Given the description of an element on the screen output the (x, y) to click on. 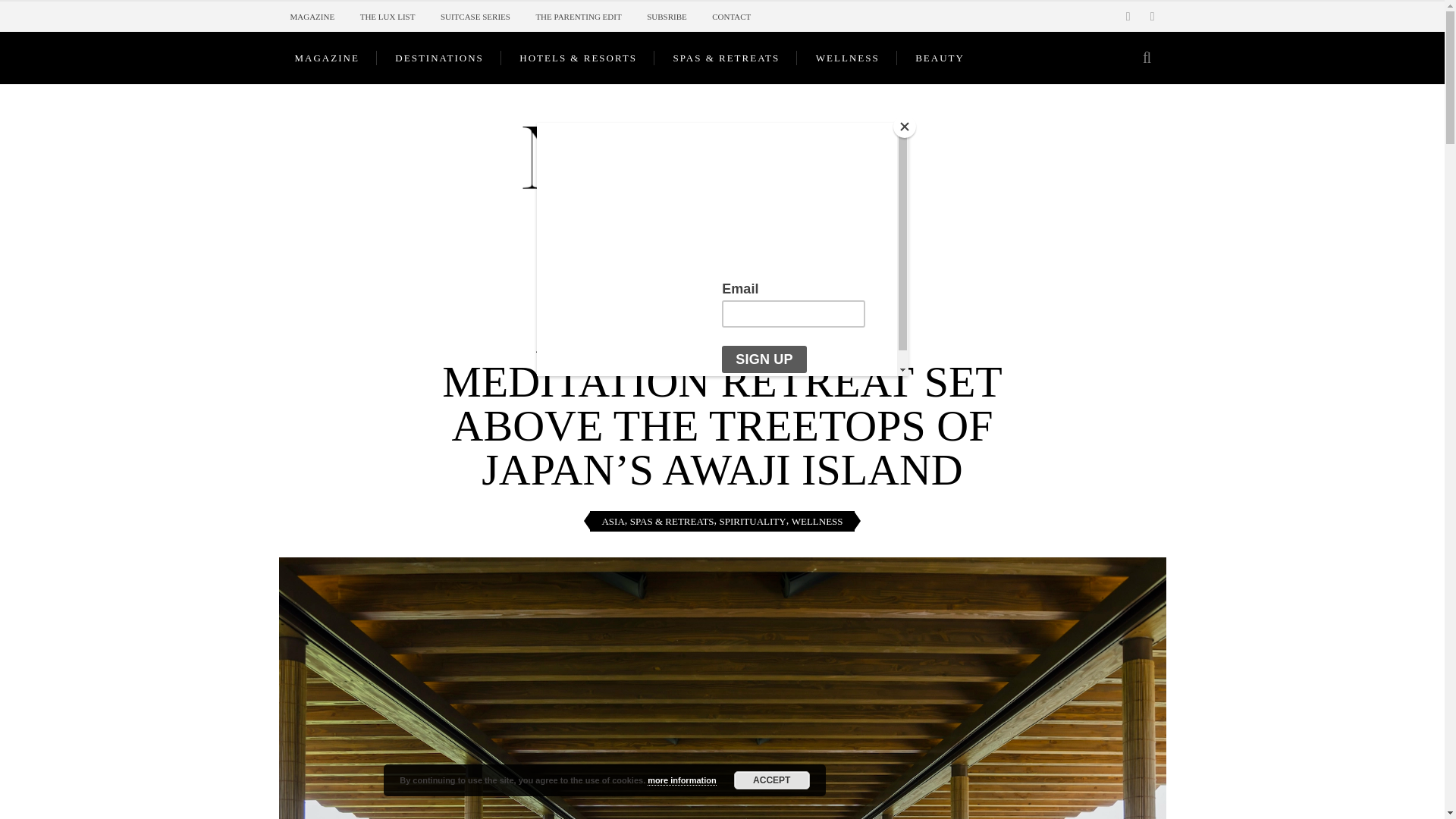
MAGAZINE (328, 57)
MAGAZINE (311, 16)
THE PARENTING EDIT (578, 16)
CONTACT (731, 16)
SUBSRIBE (666, 16)
SUITCASE SERIES (476, 16)
DESTINATIONS (439, 57)
THE LUX LIST (386, 16)
